Given the description of an element on the screen output the (x, y) to click on. 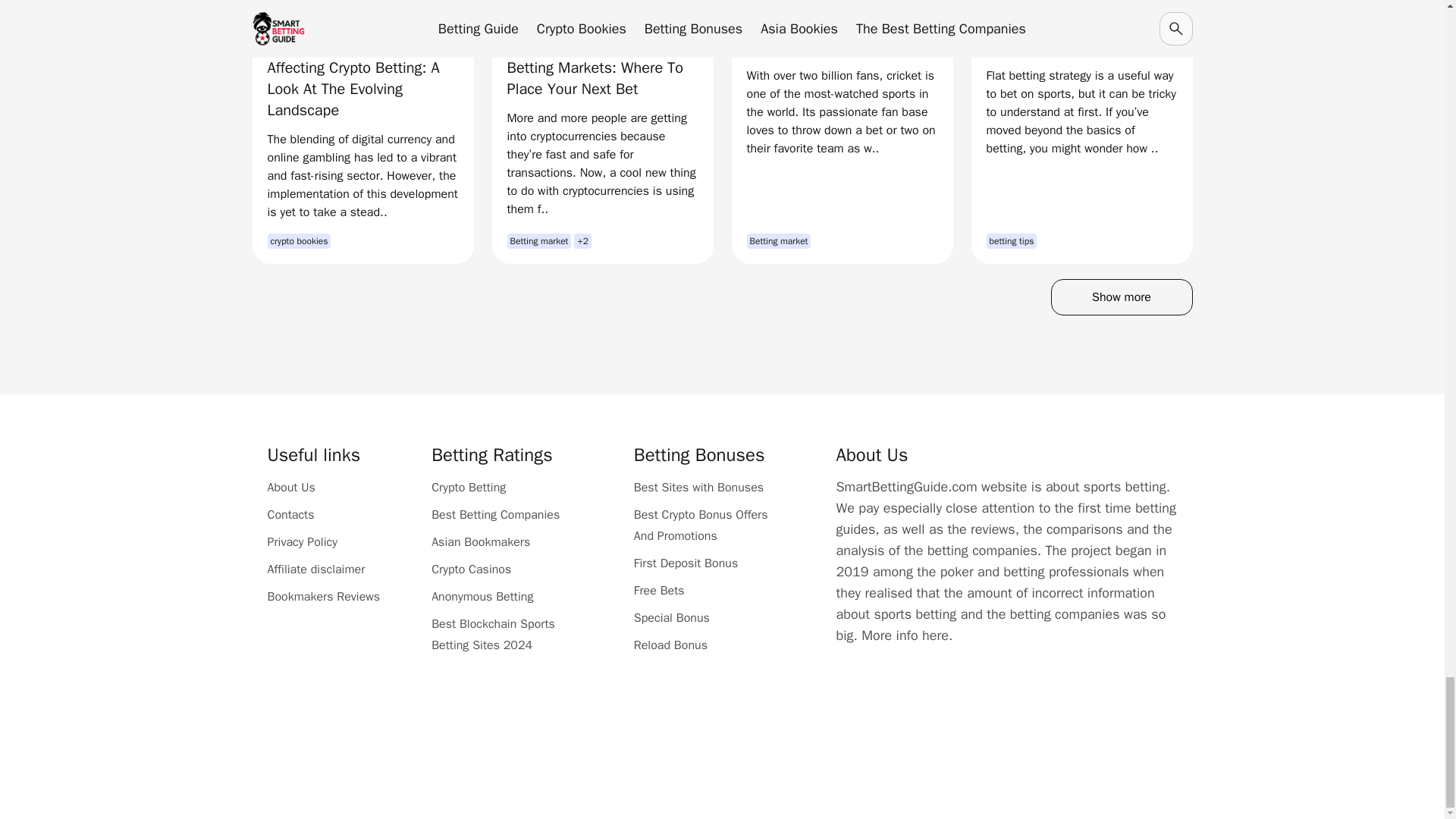
APCW (885, 715)
GPWA (667, 715)
Affpapa (776, 715)
